Given the description of an element on the screen output the (x, y) to click on. 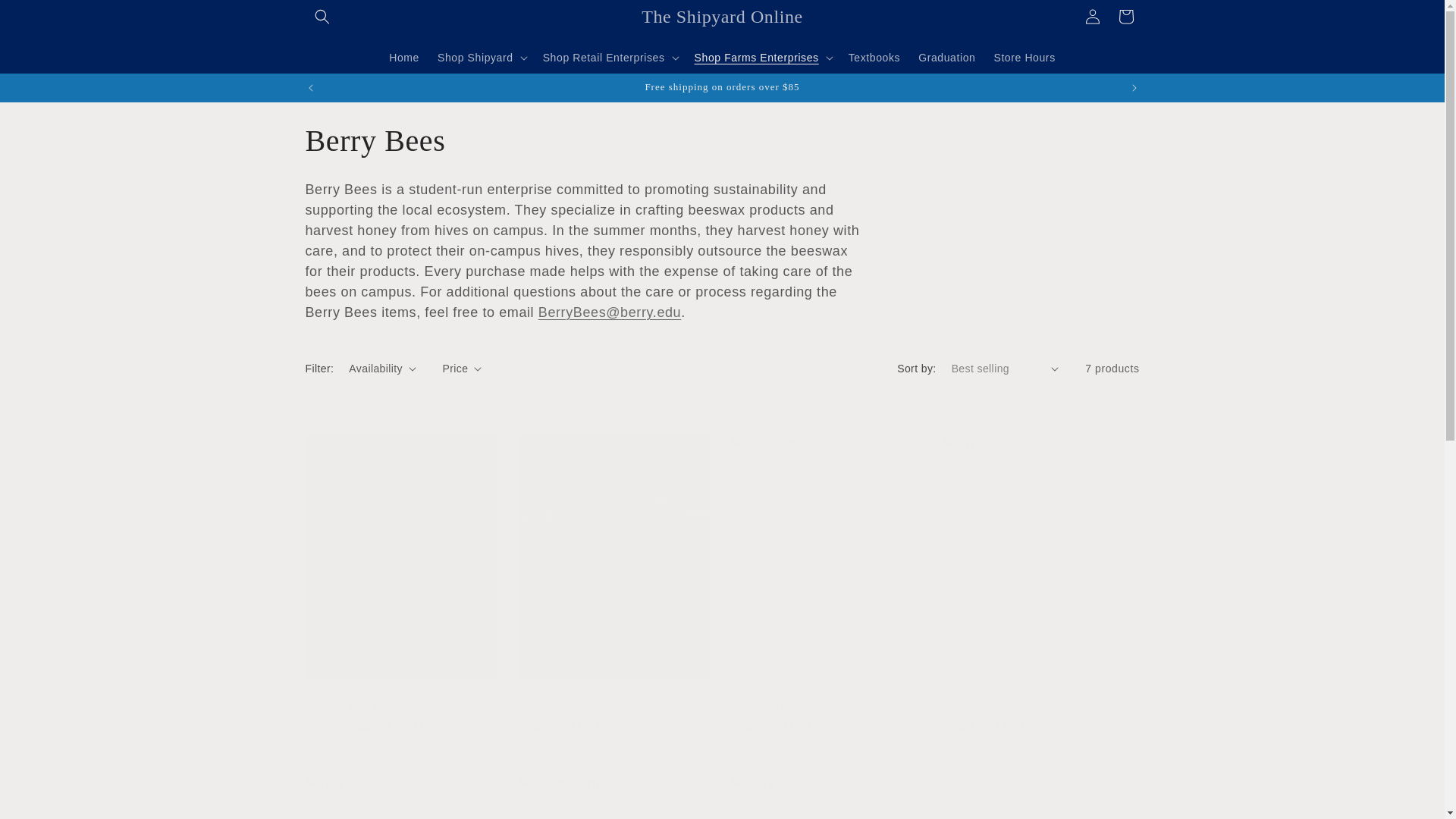
Skip to content (45, 17)
The Shipyard Online (722, 16)
Home (404, 56)
